Given the description of an element on the screen output the (x, y) to click on. 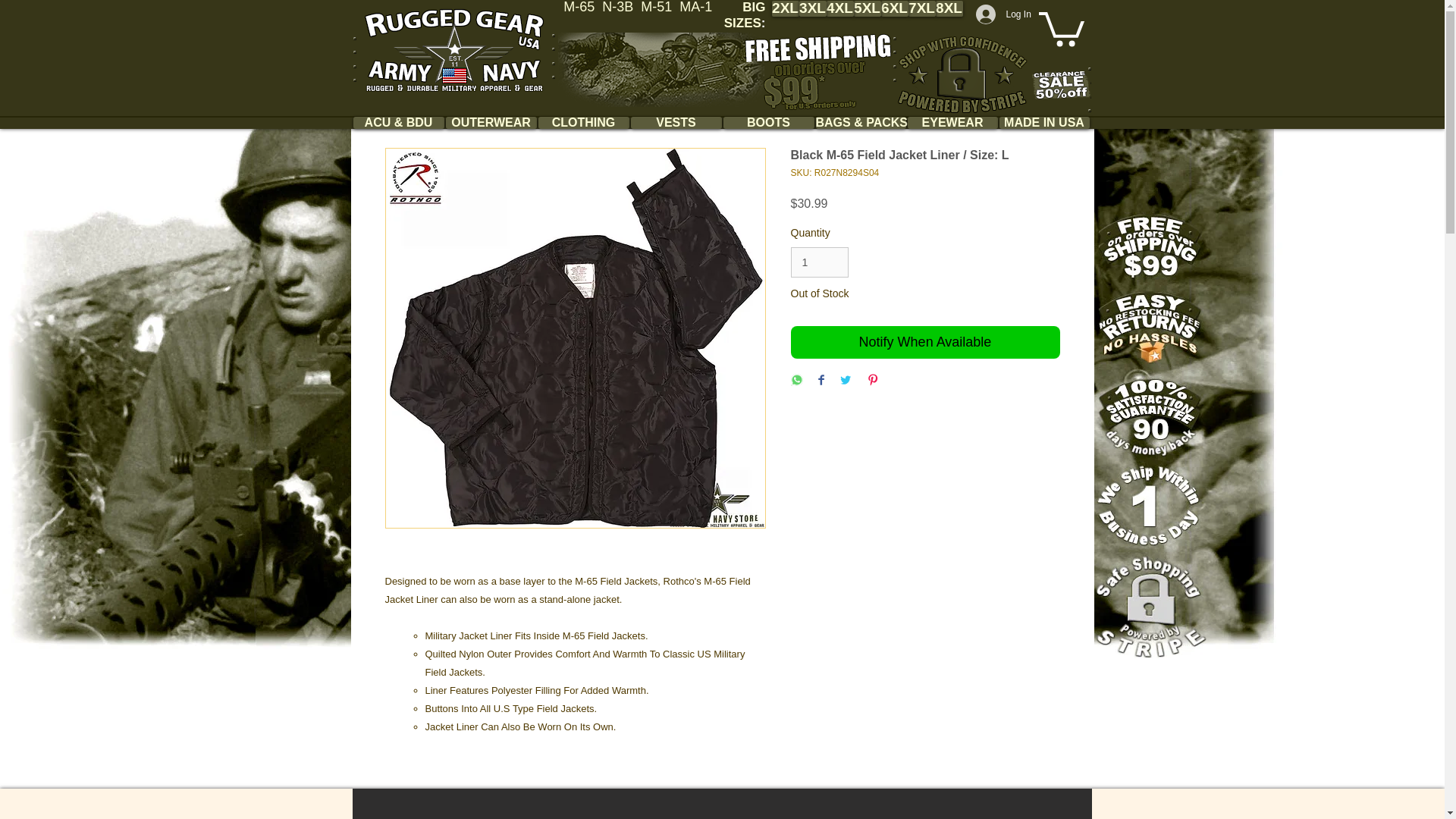
6XL (894, 8)
CLOTHING (583, 122)
VESTS (676, 122)
HOME (453, 50)
MA-1 (695, 7)
M-51   (659, 7)
M-65   (582, 7)
3XL (813, 8)
N-3B   (621, 7)
1 (818, 262)
7XL (922, 8)
5XL (866, 8)
OUTERWEAR (491, 122)
2XL (785, 8)
